Given the description of an element on the screen output the (x, y) to click on. 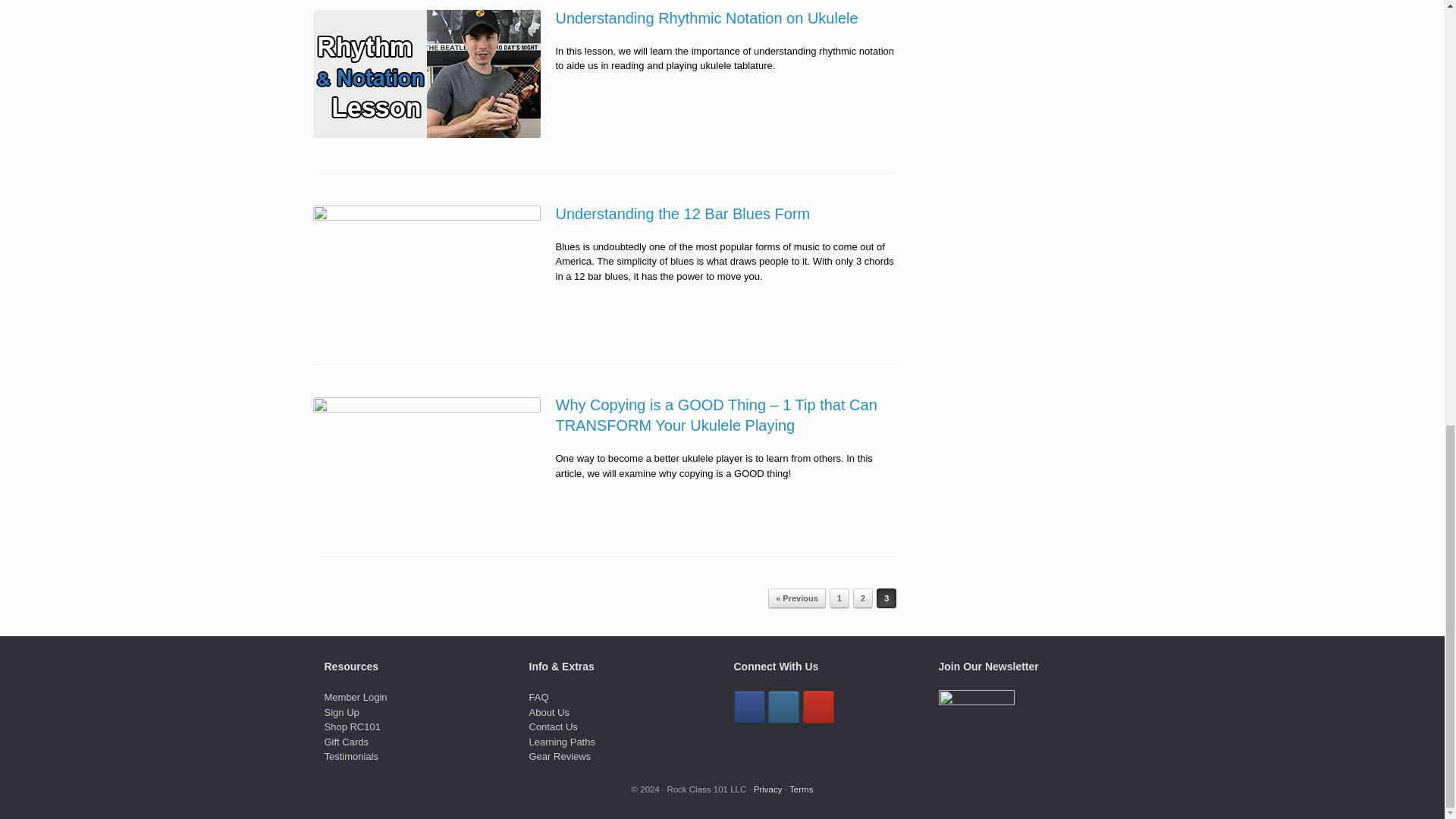
Learning Paths (562, 741)
Member Login (355, 696)
1 (838, 598)
Testimonials (351, 756)
Rock Class 101 on Youtube (818, 707)
Sign Up (341, 712)
Permalink to Understanding Rhythmic Notation on Ukulele (705, 17)
Shop RC101 (352, 726)
Understanding Rhythmic Notation on Ukulele (705, 17)
About Us (549, 712)
